Given the description of an element on the screen output the (x, y) to click on. 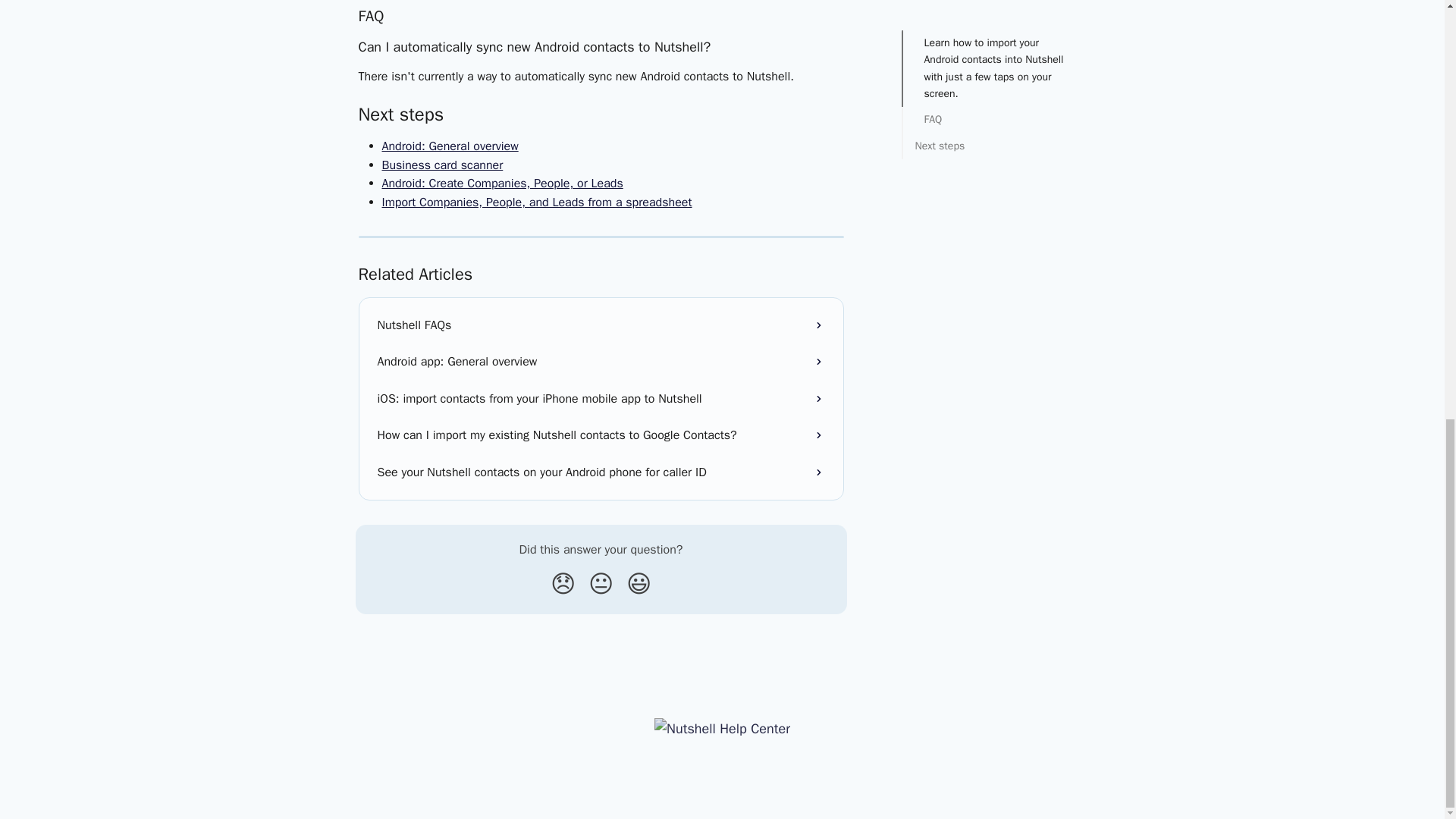
Nutshell FAQs (601, 325)
Android: General overview (449, 145)
Import Companies, People, and Leads from a spreadsheet (537, 201)
Business card scanner (442, 165)
Android app: General overview (601, 361)
iOS: import contacts from your iPhone mobile app to Nutshell (601, 398)
Android: Create Companies, People, or Leads (502, 183)
